Given the description of an element on the screen output the (x, y) to click on. 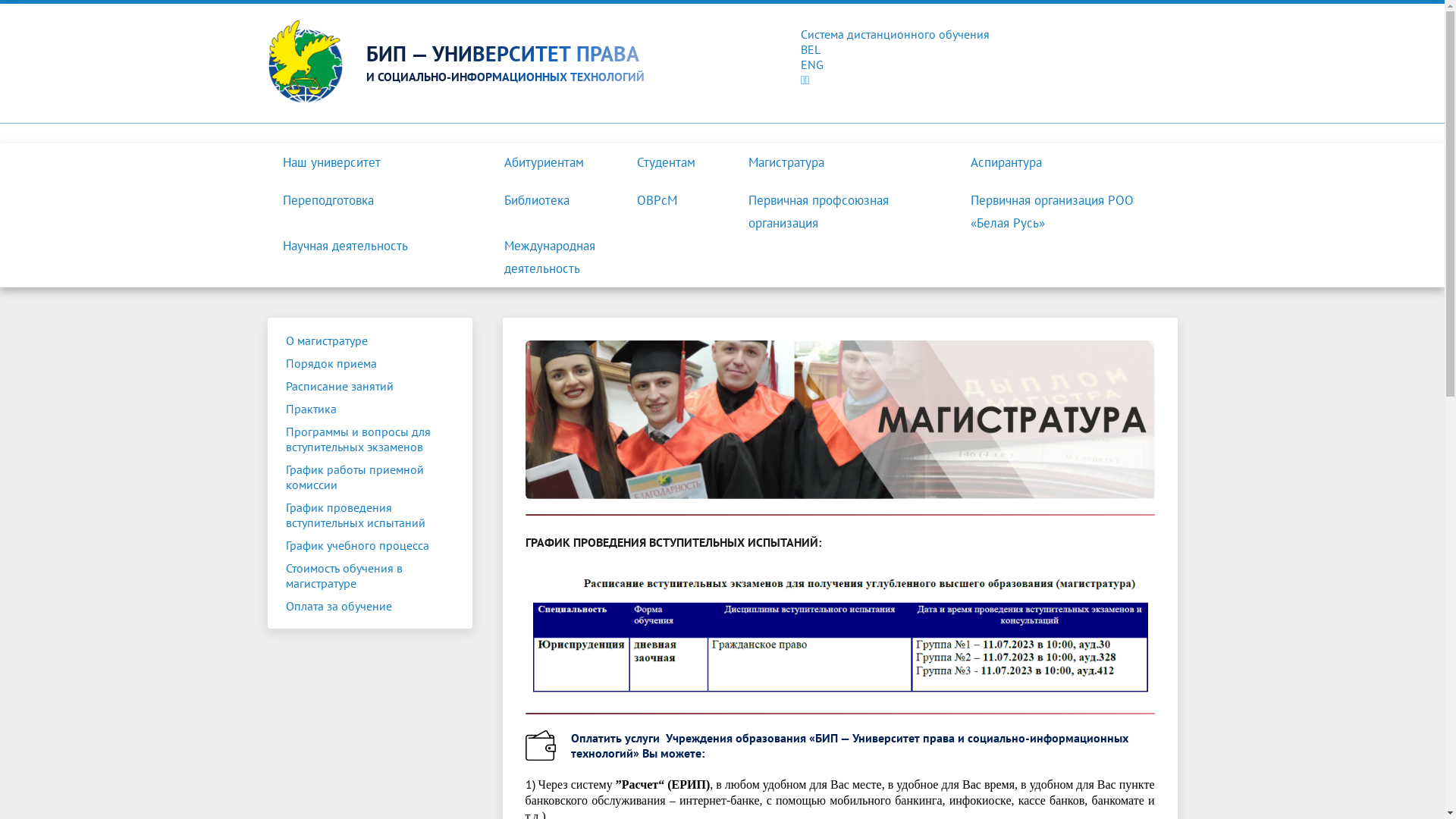
ENG Element type: text (721, 64)
BEL Element type: text (721, 48)
